Given the description of an element on the screen output the (x, y) to click on. 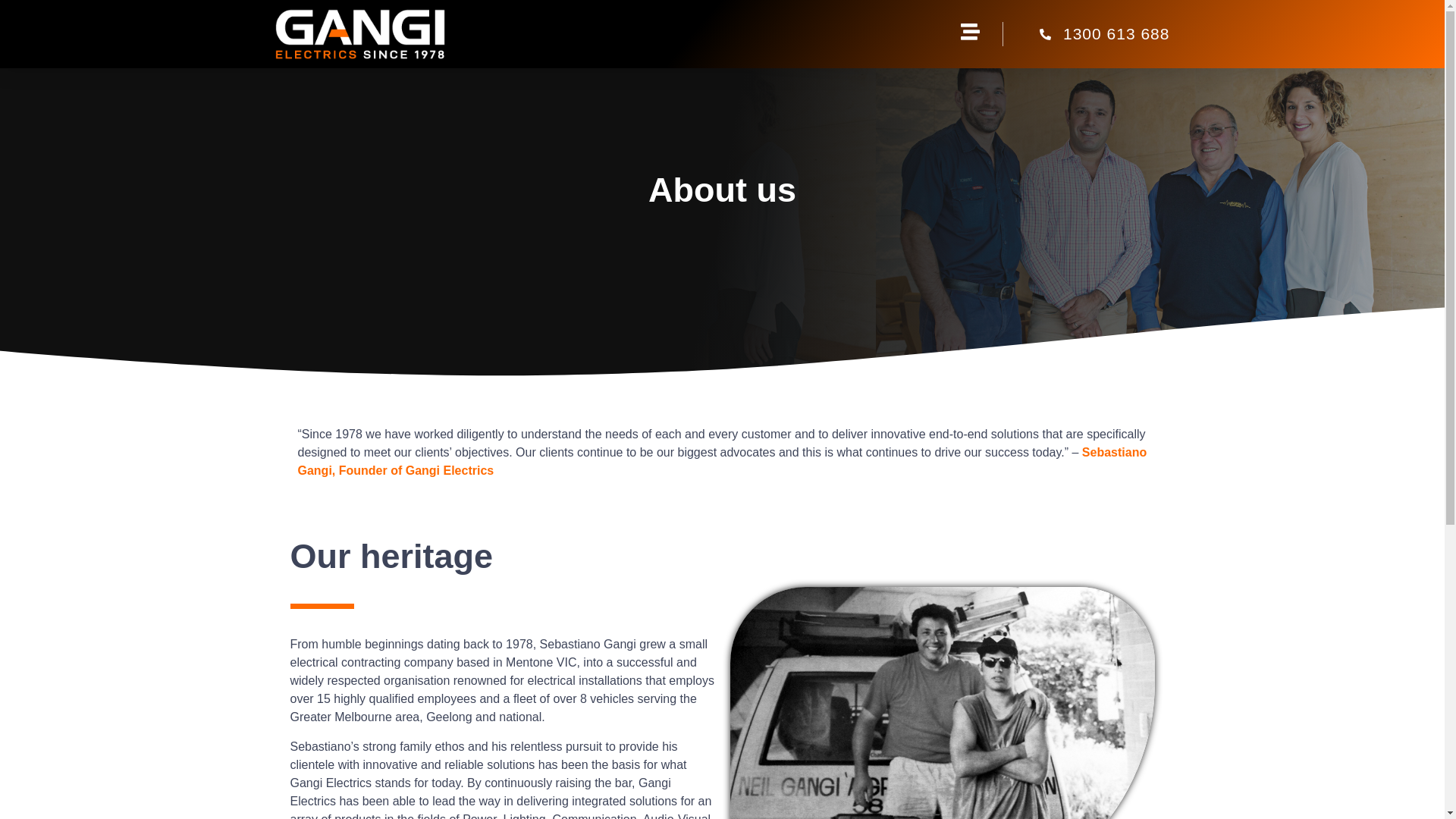
1300 613 688 Element type: text (1086, 33)
